Given the description of an element on the screen output the (x, y) to click on. 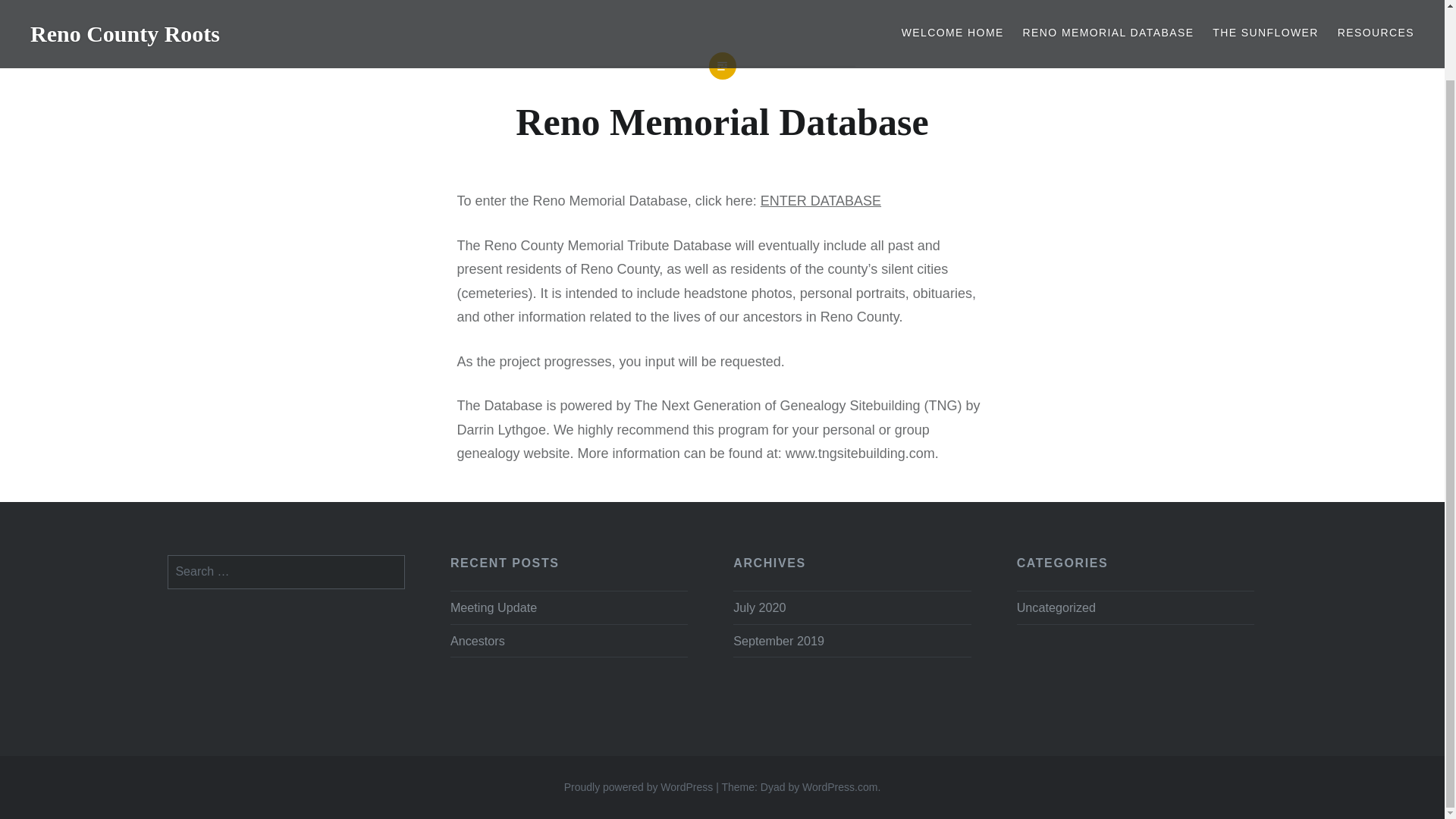
Ancestors (568, 640)
Proudly powered by WordPress (638, 787)
Meeting Update (568, 607)
September 2019 (778, 640)
July 2020 (759, 607)
ENTER DATABASE (820, 200)
Uncategorized (1056, 607)
WordPress.com (839, 787)
